Given the description of an element on the screen output the (x, y) to click on. 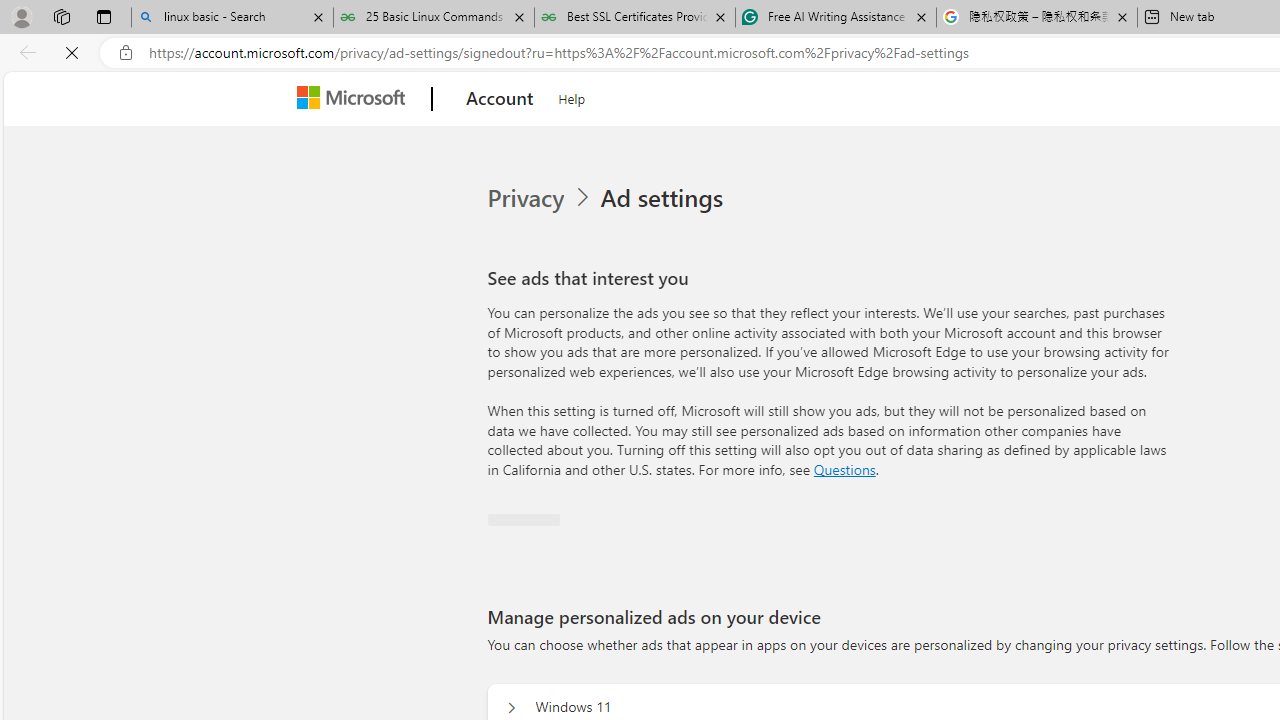
Account (499, 99)
25 Basic Linux Commands For Beginners - GeeksforGeeks (433, 17)
Best SSL Certificates Provider in India - GeeksforGeeks (634, 17)
Free AI Writing Assistance for Students | Grammarly (835, 17)
